Given the description of an element on the screen output the (x, y) to click on. 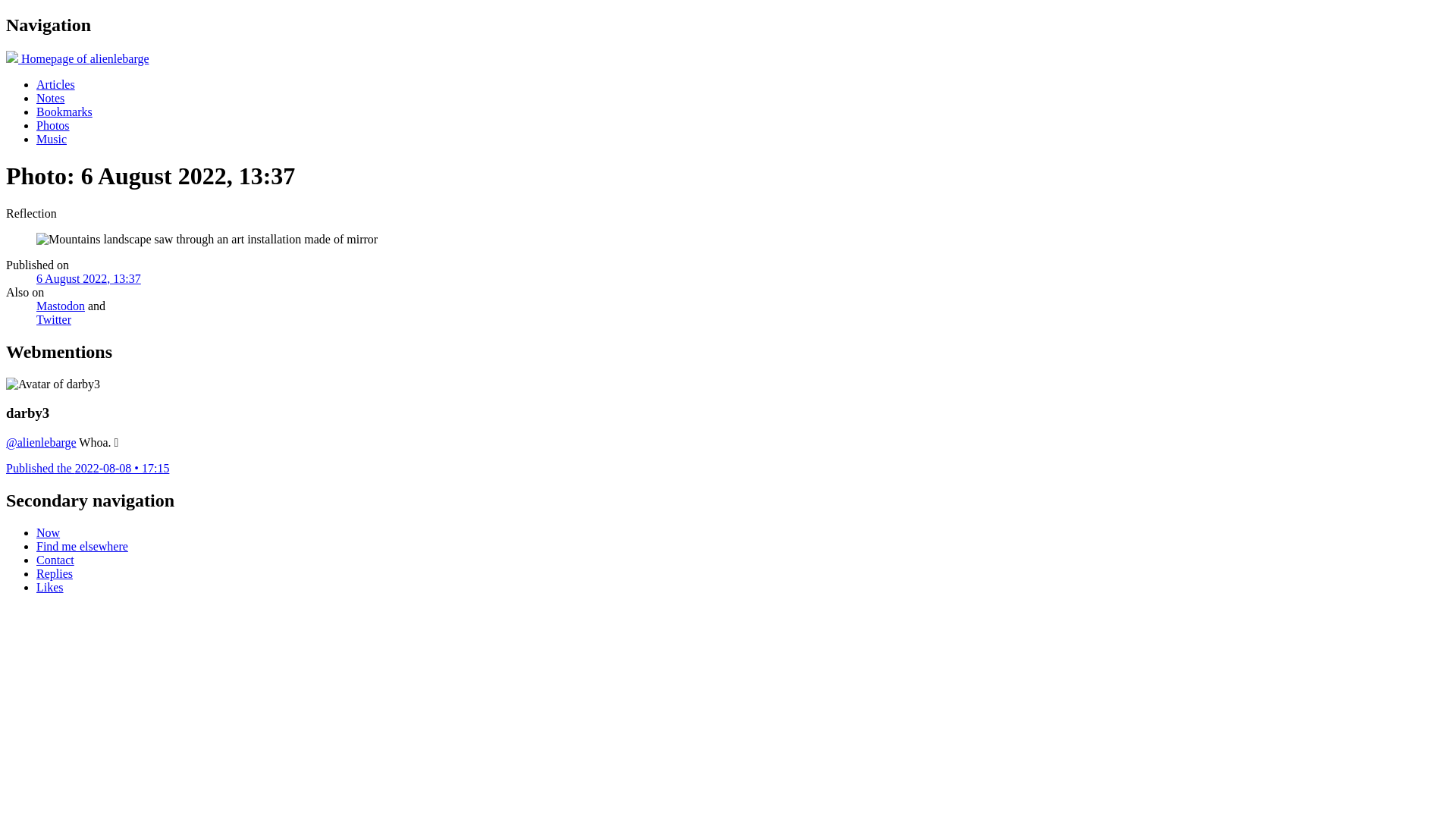
Notes Element type: text (50, 97)
Find me elsewhere Element type: text (82, 545)
Articles Element type: text (55, 84)
Mastodon Element type: text (60, 305)
Now Element type: text (47, 532)
Bookmarks Element type: text (64, 111)
6 August 2022, 13:37 Element type: text (88, 278)
Music Element type: text (51, 138)
Twitter Element type: text (53, 319)
Likes Element type: text (49, 586)
@alienlebarge Element type: text (41, 442)
Homepage of alienlebarge Element type: text (77, 58)
Photos Element type: text (52, 125)
Replies Element type: text (54, 573)
Contact Element type: text (55, 559)
